Given the description of an element on the screen output the (x, y) to click on. 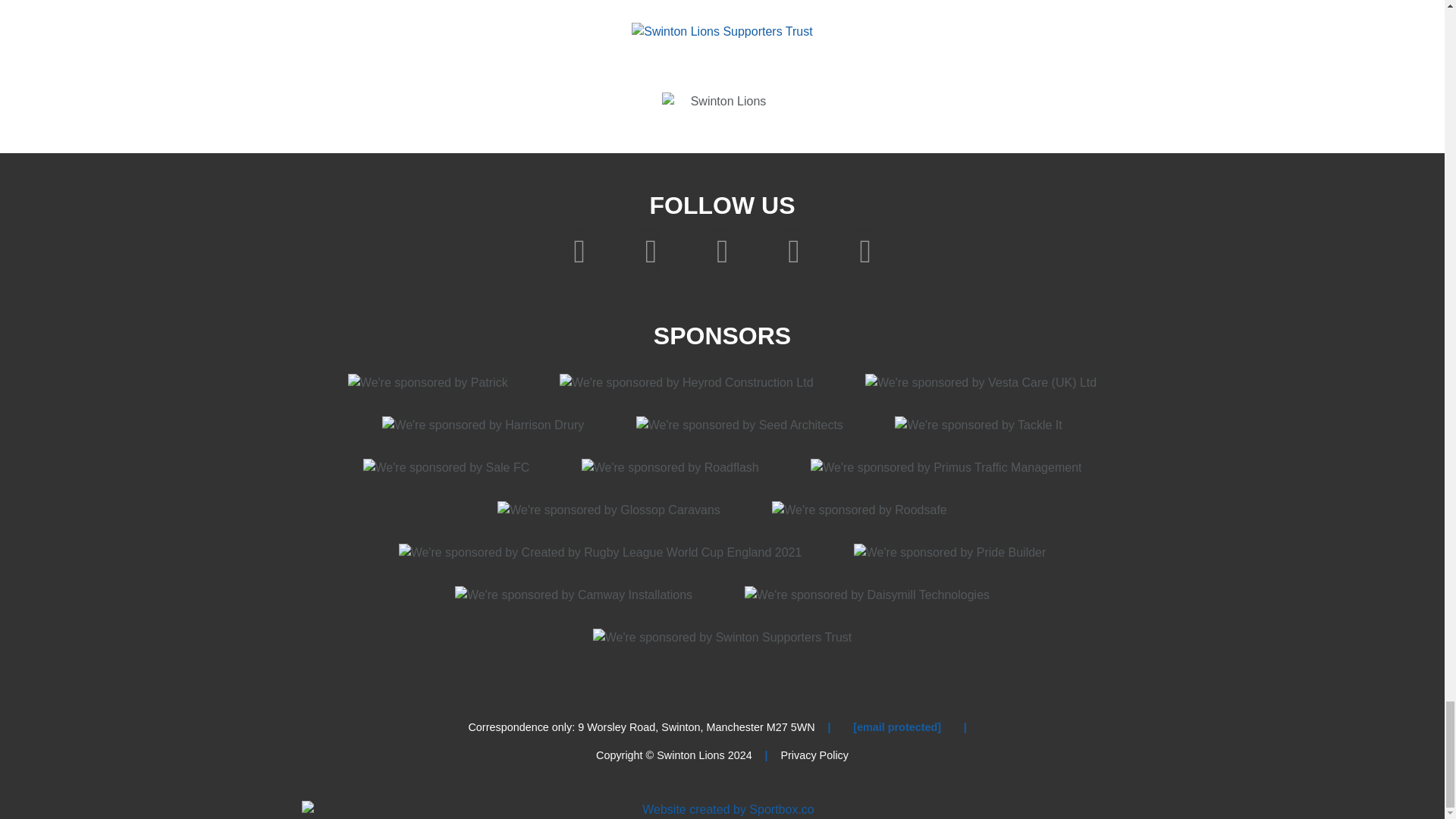
Like on Instagram (725, 248)
Connect on LinkedIn (864, 248)
Like on Facebook (582, 248)
Follow on Twitter (654, 248)
Like on YouTube (796, 248)
